Given the description of an element on the screen output the (x, y) to click on. 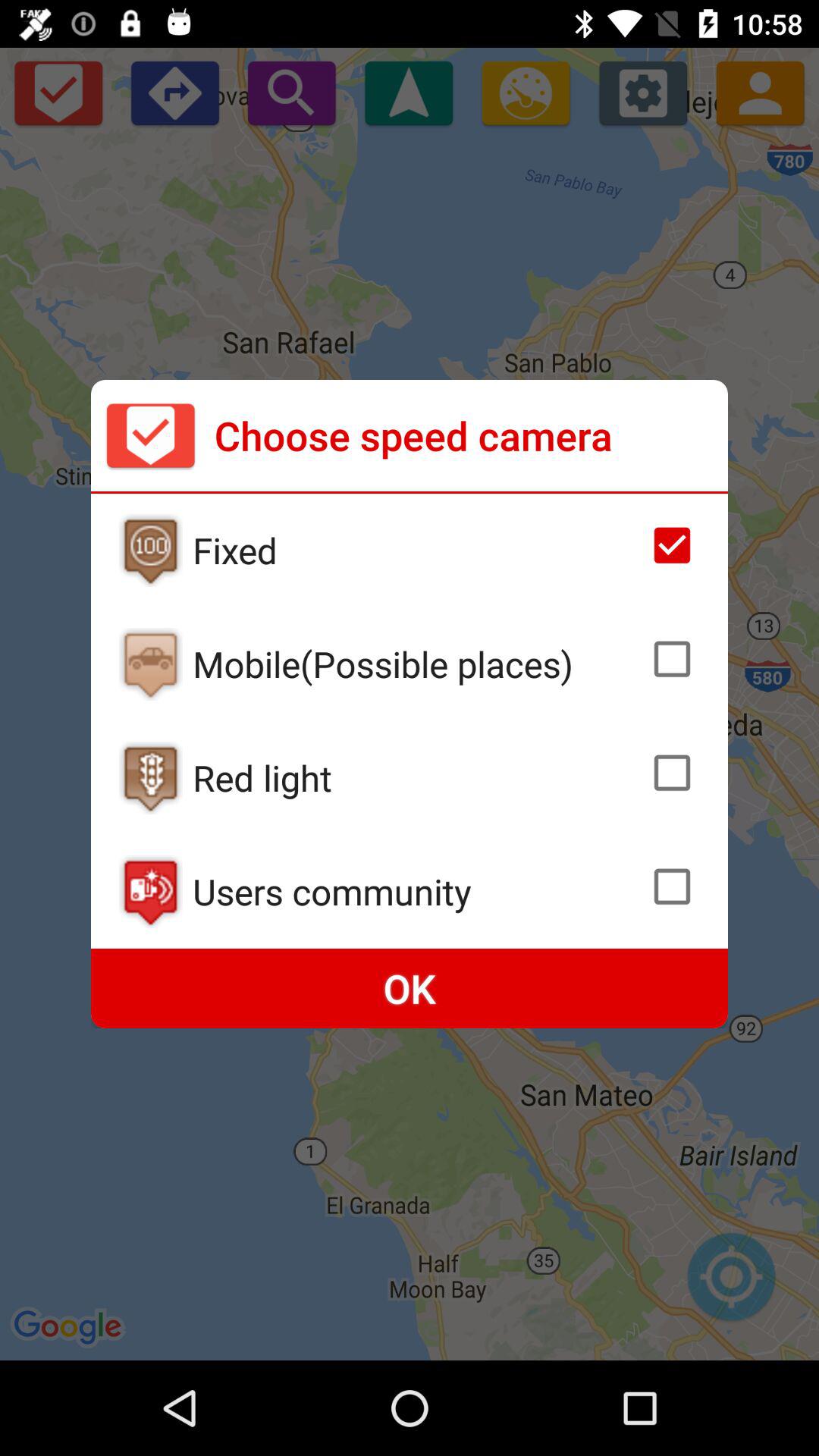
choose your choice (672, 659)
